Given the description of an element on the screen output the (x, y) to click on. 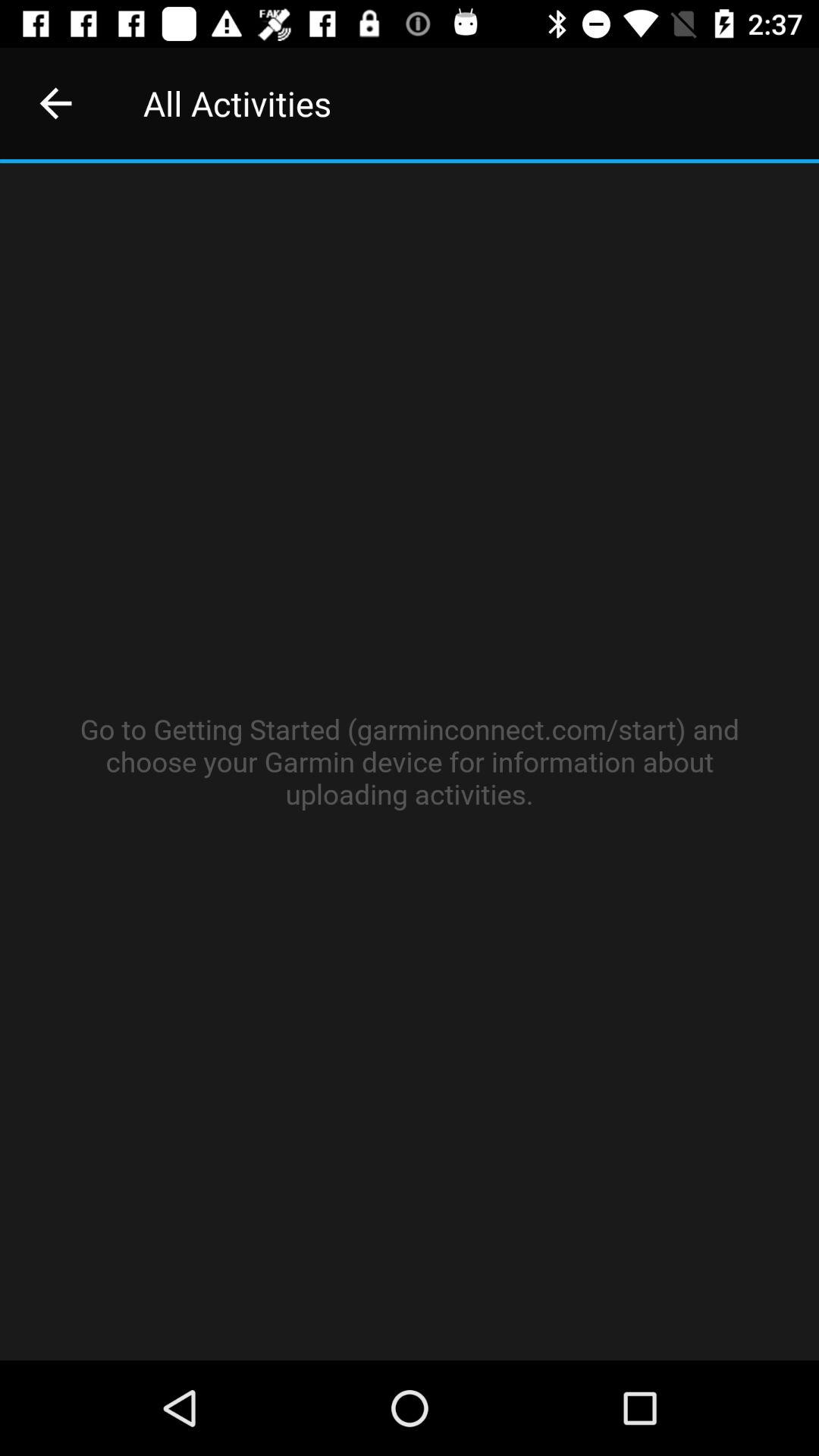
turn on the go to getting item (409, 761)
